Given the description of an element on the screen output the (x, y) to click on. 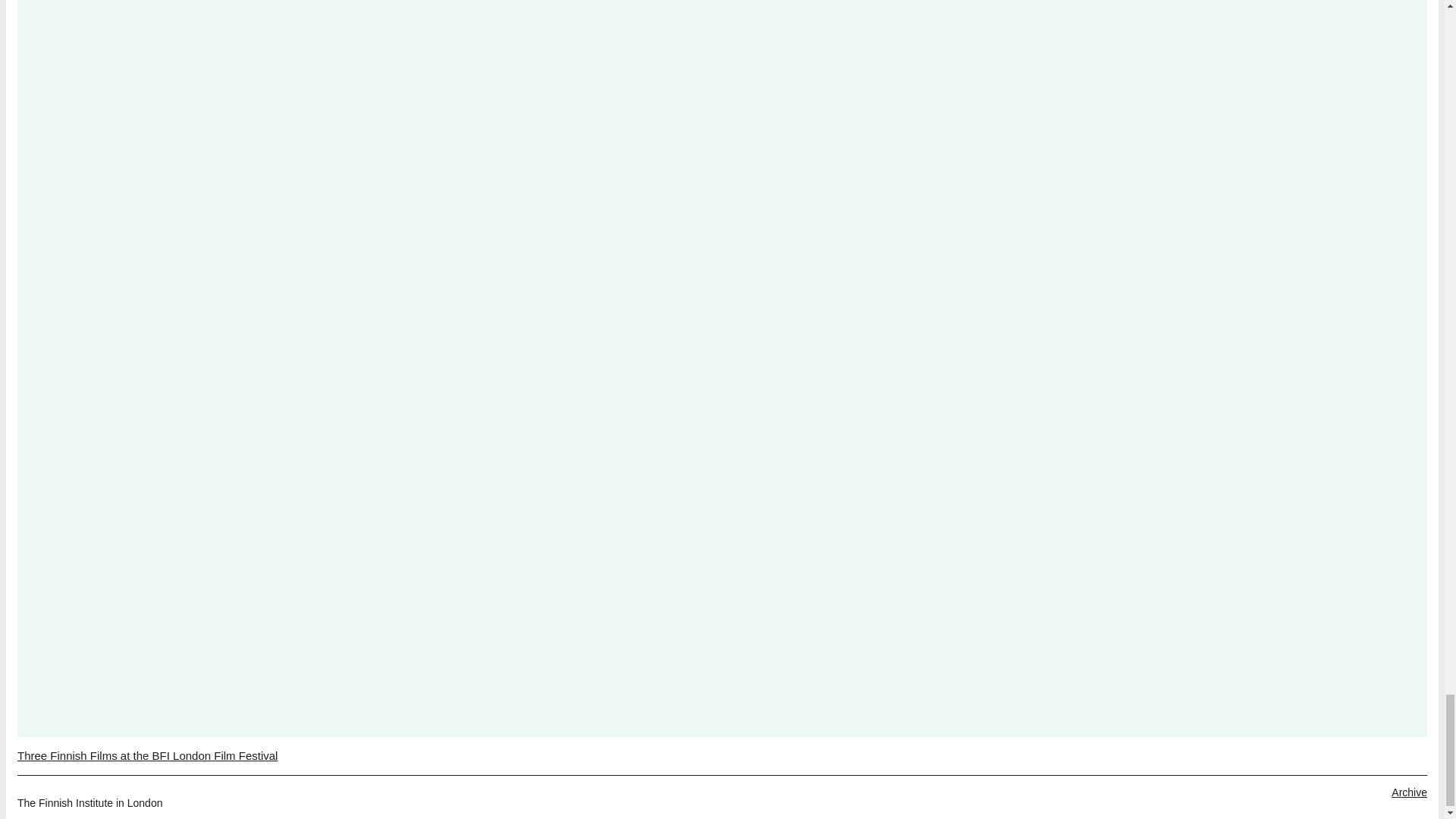
Archive (1408, 792)
